Given the description of an element on the screen output the (x, y) to click on. 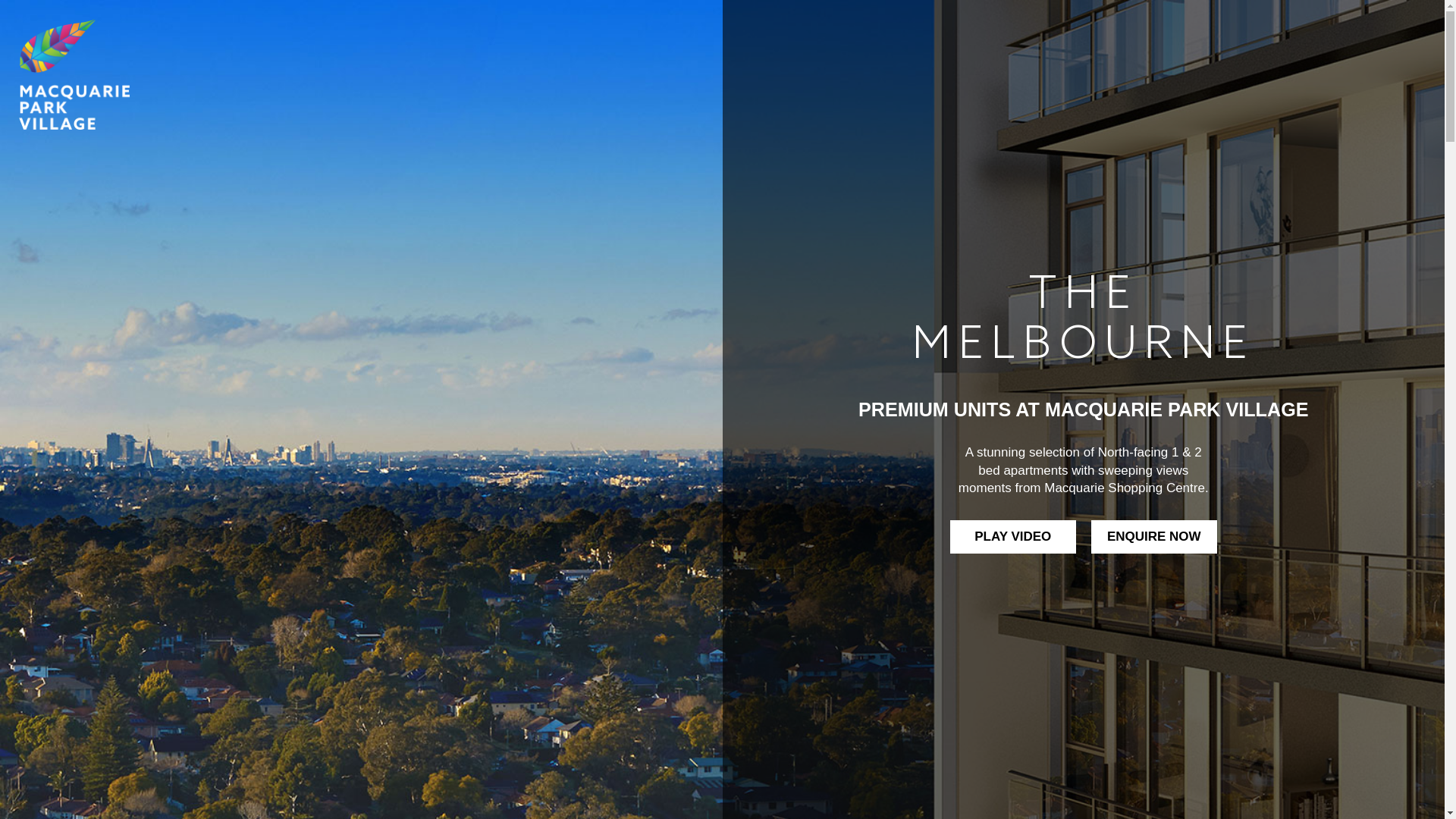
PLAY VIDEO Element type: text (1013, 536)
ENQUIRE NOW Element type: text (1154, 536)
